Given the description of an element on the screen output the (x, y) to click on. 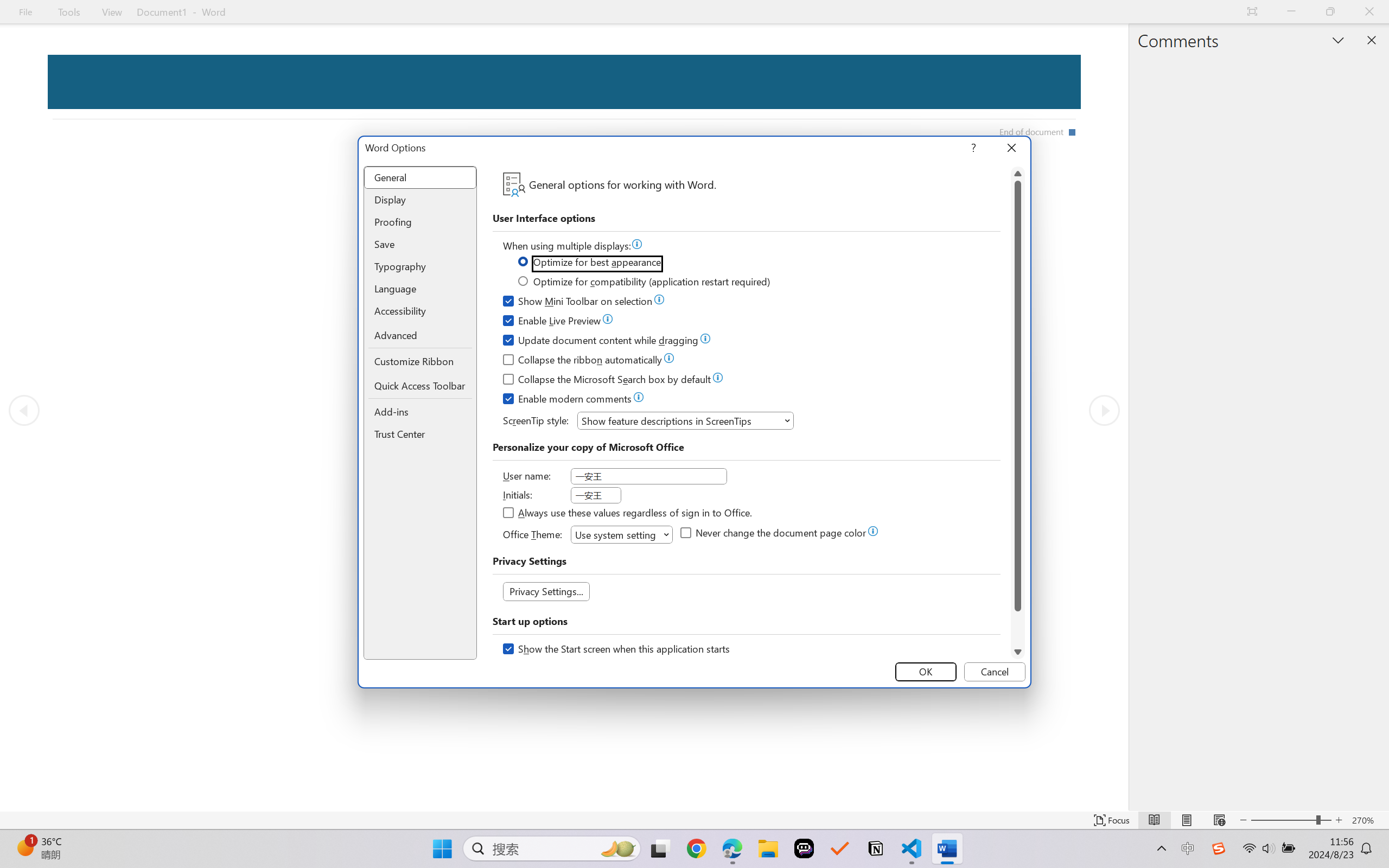
Typography (419, 266)
Office Theme (621, 534)
Privacy Settings... (546, 591)
Line down (1018, 651)
Advanced (419, 336)
